Given the description of an element on the screen output the (x, y) to click on. 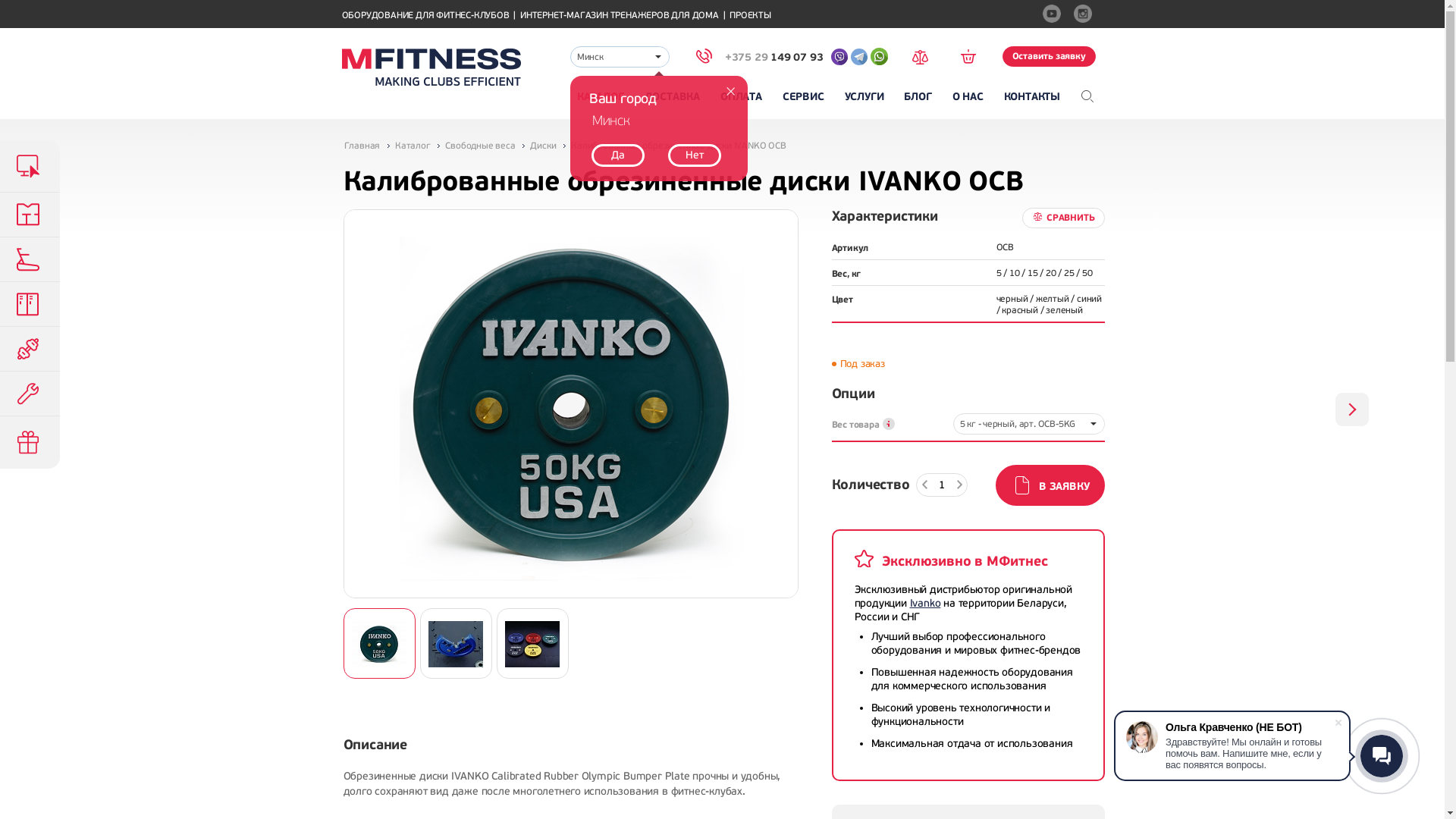
Instagram Element type: hover (1084, 15)
Youtube Element type: hover (1052, 15)
+375 29 149 07 93 Element type: text (759, 57)
Ivanko Element type: text (925, 602)
IVANKO ROEZH Element type: hover (1351, 409)
